Given the description of an element on the screen output the (x, y) to click on. 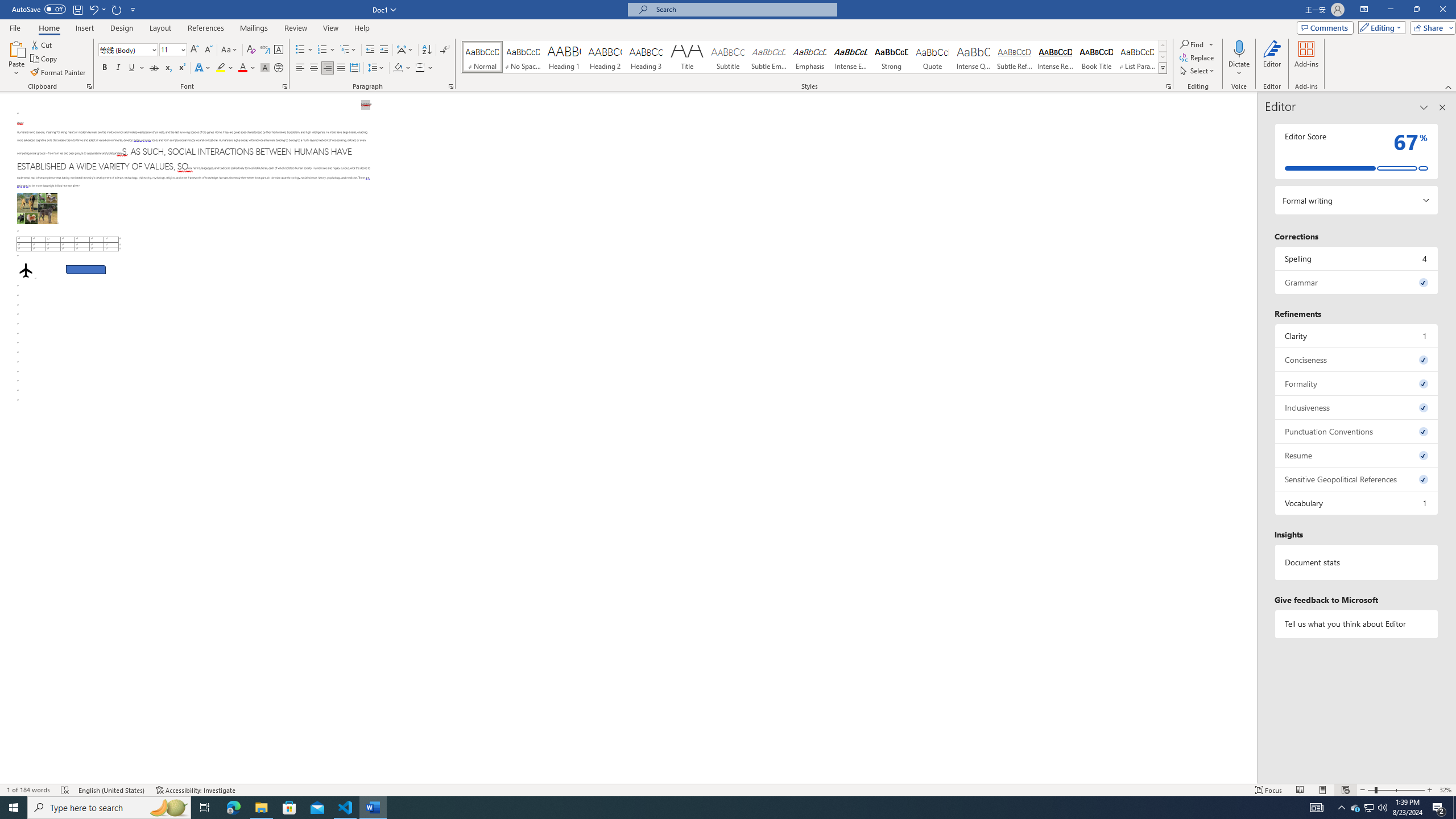
Rectangle: Diagonal Corners Snipped 2 (85, 269)
Grammar, 0 issues. Press space or enter to review items. (1356, 282)
Subtle Emphasis (768, 56)
